Given the description of an element on the screen output the (x, y) to click on. 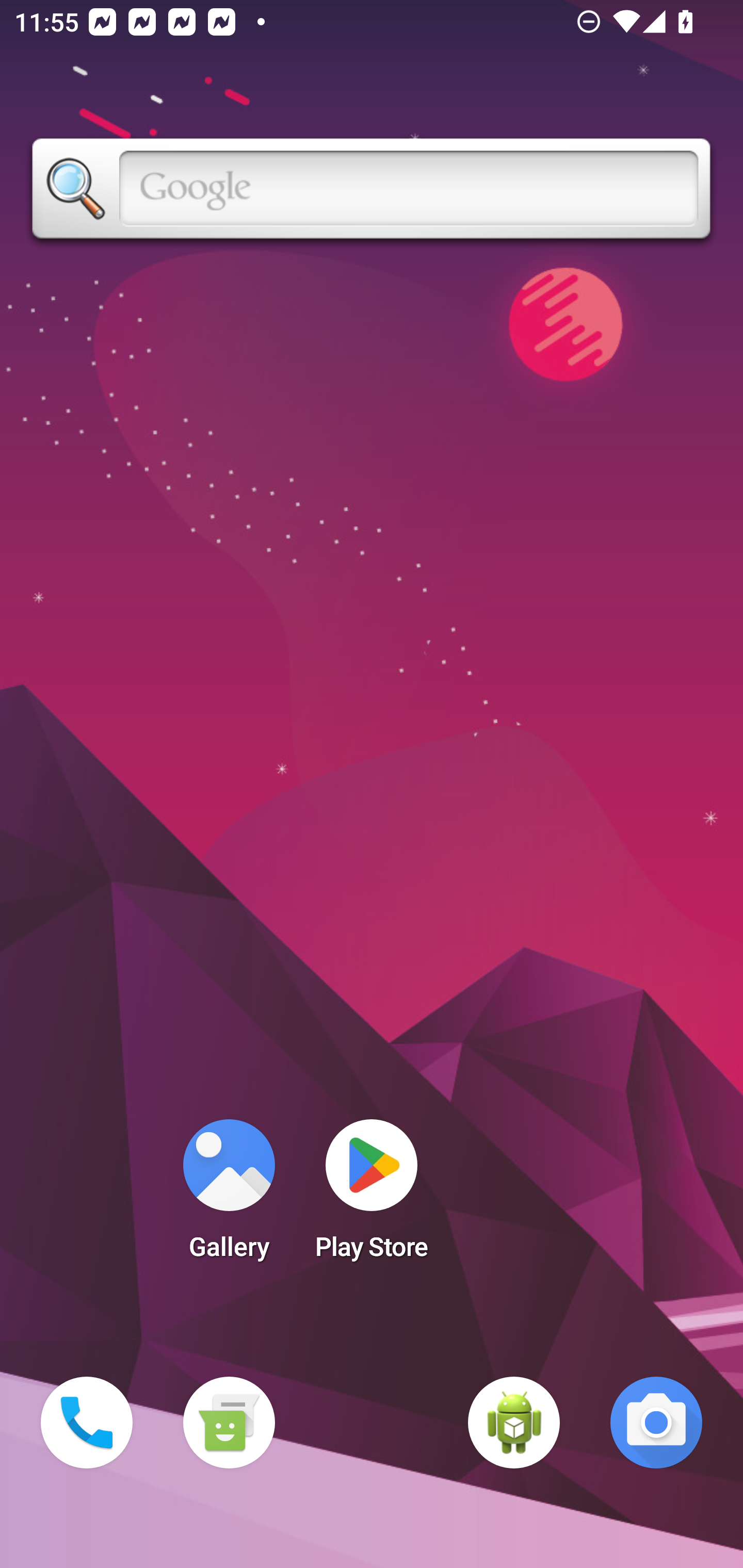
Gallery (228, 1195)
Play Store (371, 1195)
Phone (86, 1422)
Messaging (228, 1422)
WebView Browser Tester (513, 1422)
Camera (656, 1422)
